Given the description of an element on the screen output the (x, y) to click on. 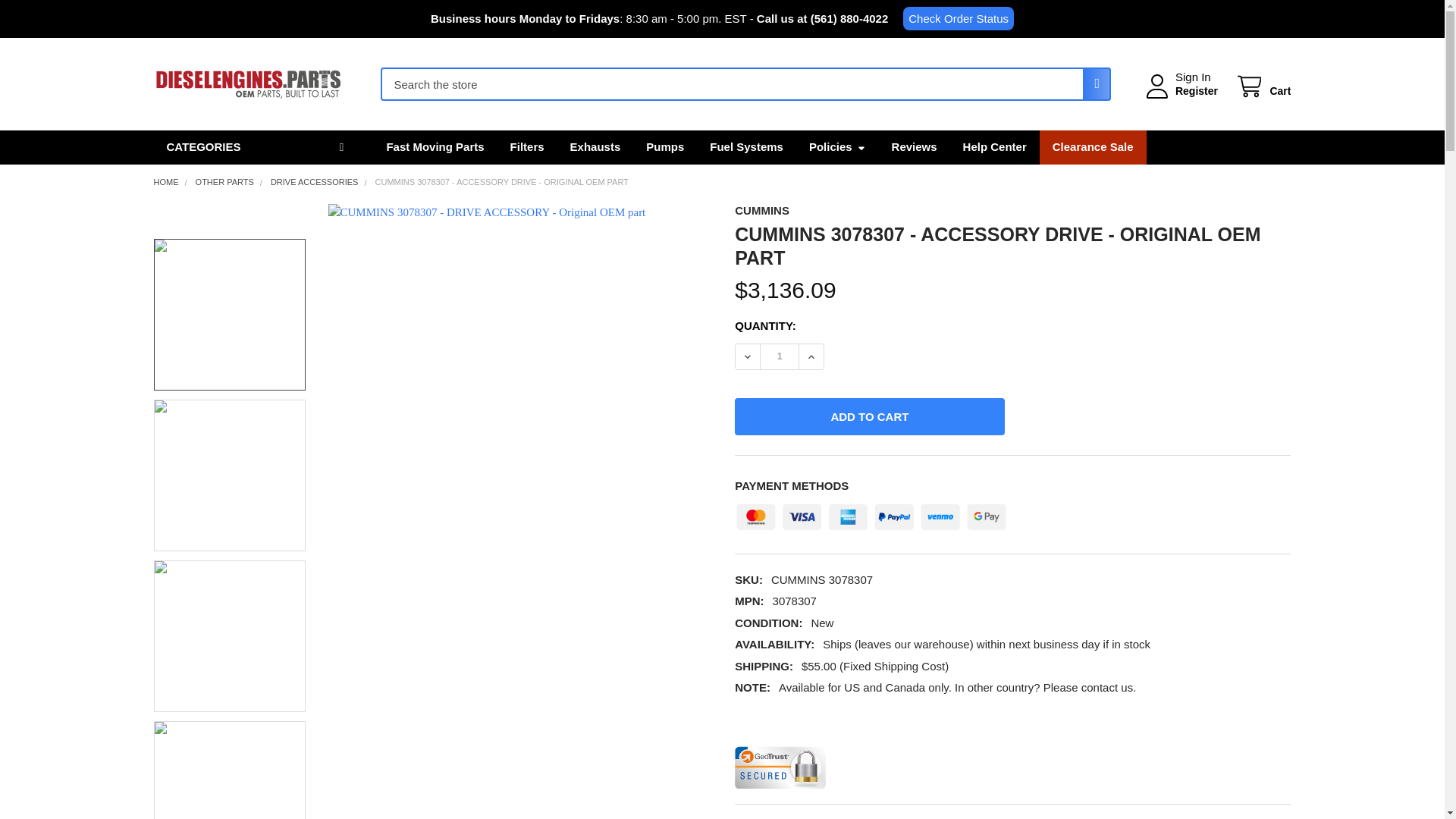
Sign In (1192, 77)
1 (778, 356)
Add to Cart (869, 416)
CUMMINS 3078307 - DRIVE ACCESSORY - Original OEM part (229, 475)
Search (1092, 83)
Check Order Status (957, 18)
DIESELENGINES PARTS (247, 84)
Cart (1262, 86)
CUMMINS 3078307 - DRIVE ACCESSORY - Original OEM part (229, 636)
Cart (1262, 86)
